Given the description of an element on the screen output the (x, y) to click on. 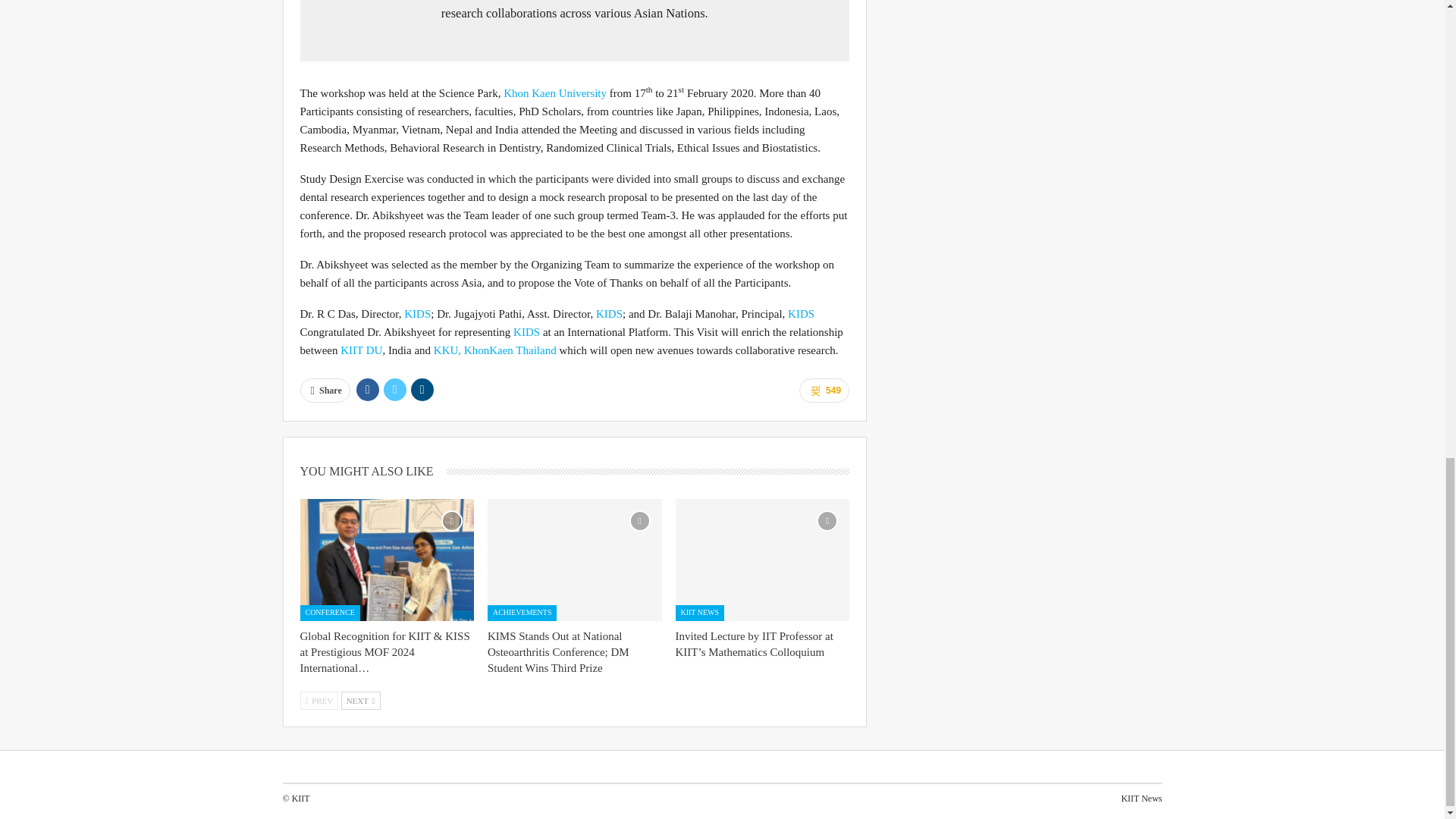
CONFERENCE (329, 612)
Khon Kaen University (555, 92)
KIIT DU (360, 349)
KIDS (800, 313)
KKU, KhonKaen Thailand (494, 349)
KIDS (526, 331)
KIIT NEWS (699, 612)
KIDS (609, 313)
